Given the description of an element on the screen output the (x, y) to click on. 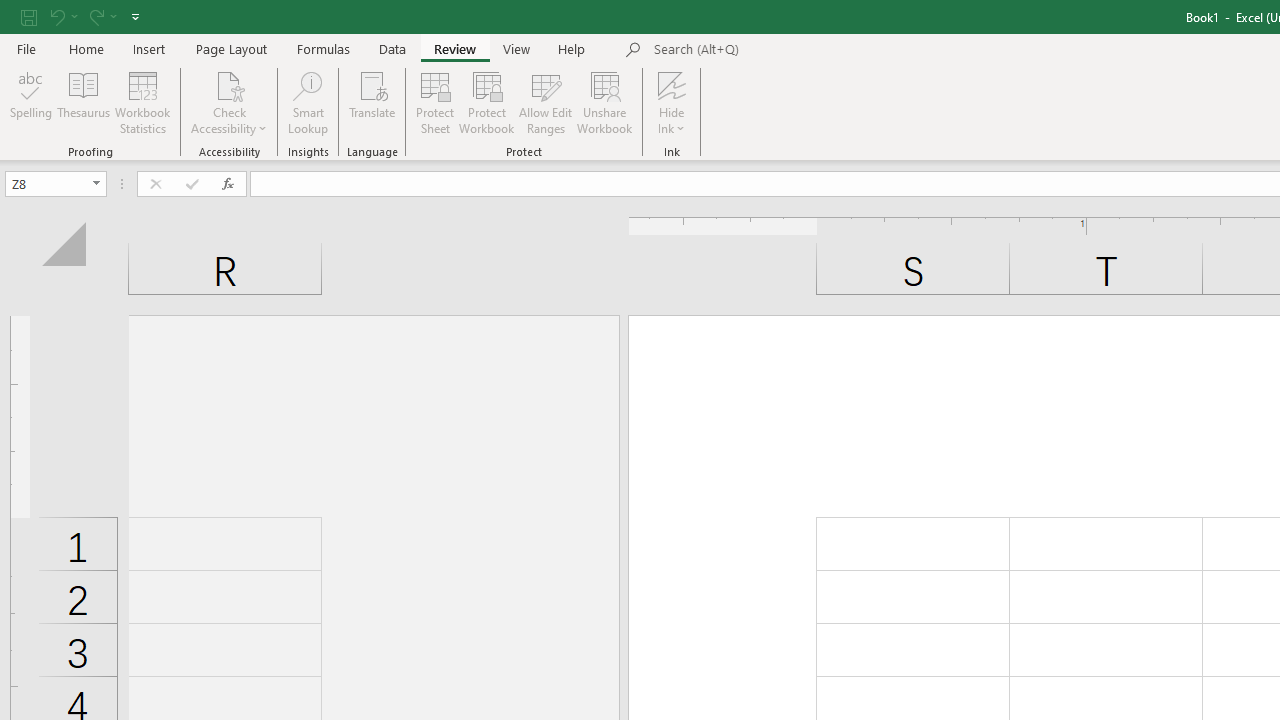
Hide Ink (671, 102)
Smart Lookup (308, 102)
Workbook Statistics (142, 102)
Allow Edit Ranges (545, 102)
Spelling... (31, 102)
Check Accessibility (229, 102)
